Given the description of an element on the screen output the (x, y) to click on. 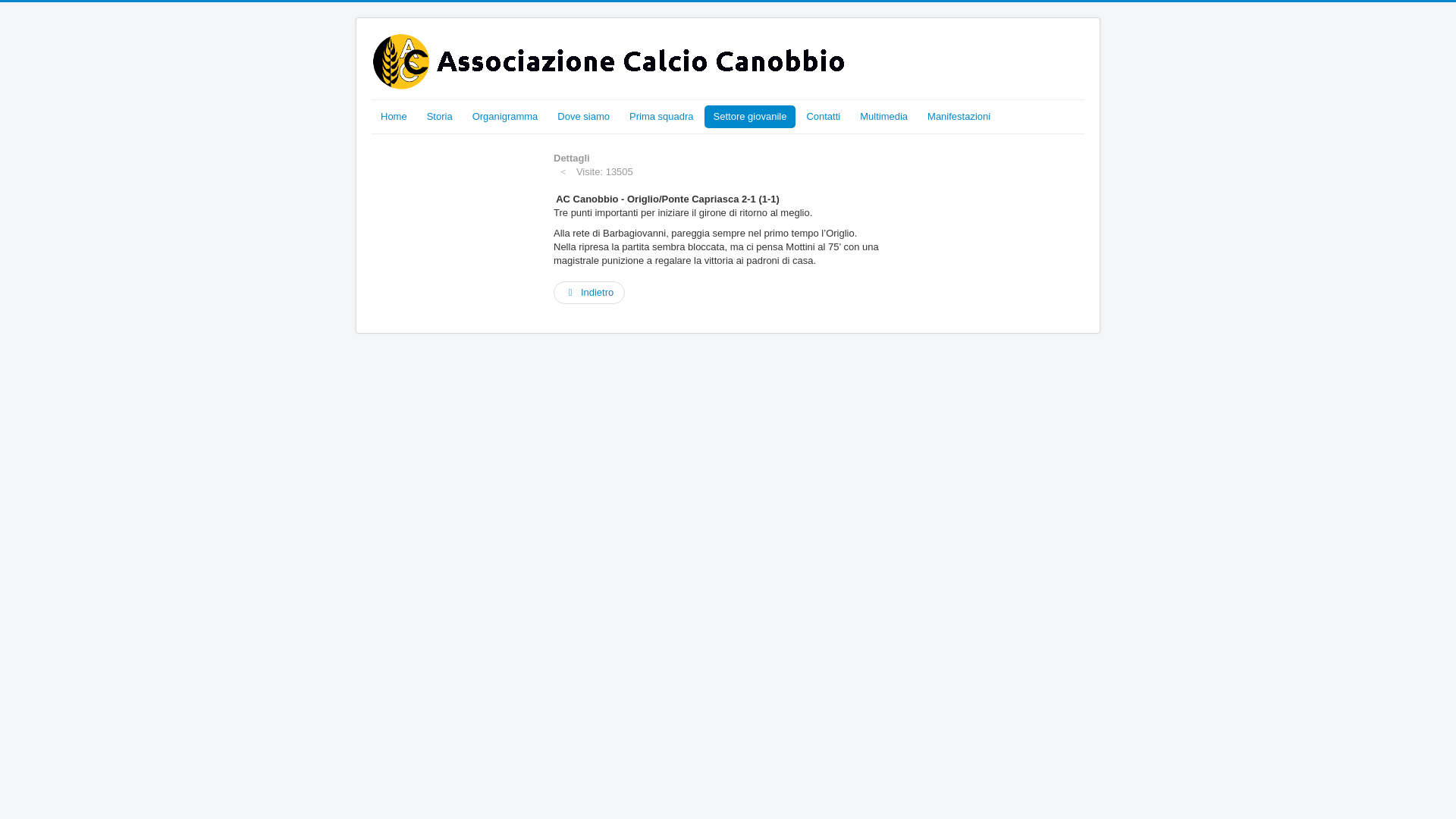
Contatti Element type: text (823, 116)
Storia Element type: text (439, 116)
Home Element type: text (393, 116)
Prima squadra Element type: text (661, 116)
Settore giovanile Element type: text (750, 116)
Indietro Element type: text (588, 292)
Organigramma Element type: text (505, 116)
Multimedia Element type: text (883, 116)
Manifestazioni Element type: text (958, 116)
Dove siamo Element type: text (583, 116)
